Given the description of an element on the screen output the (x, y) to click on. 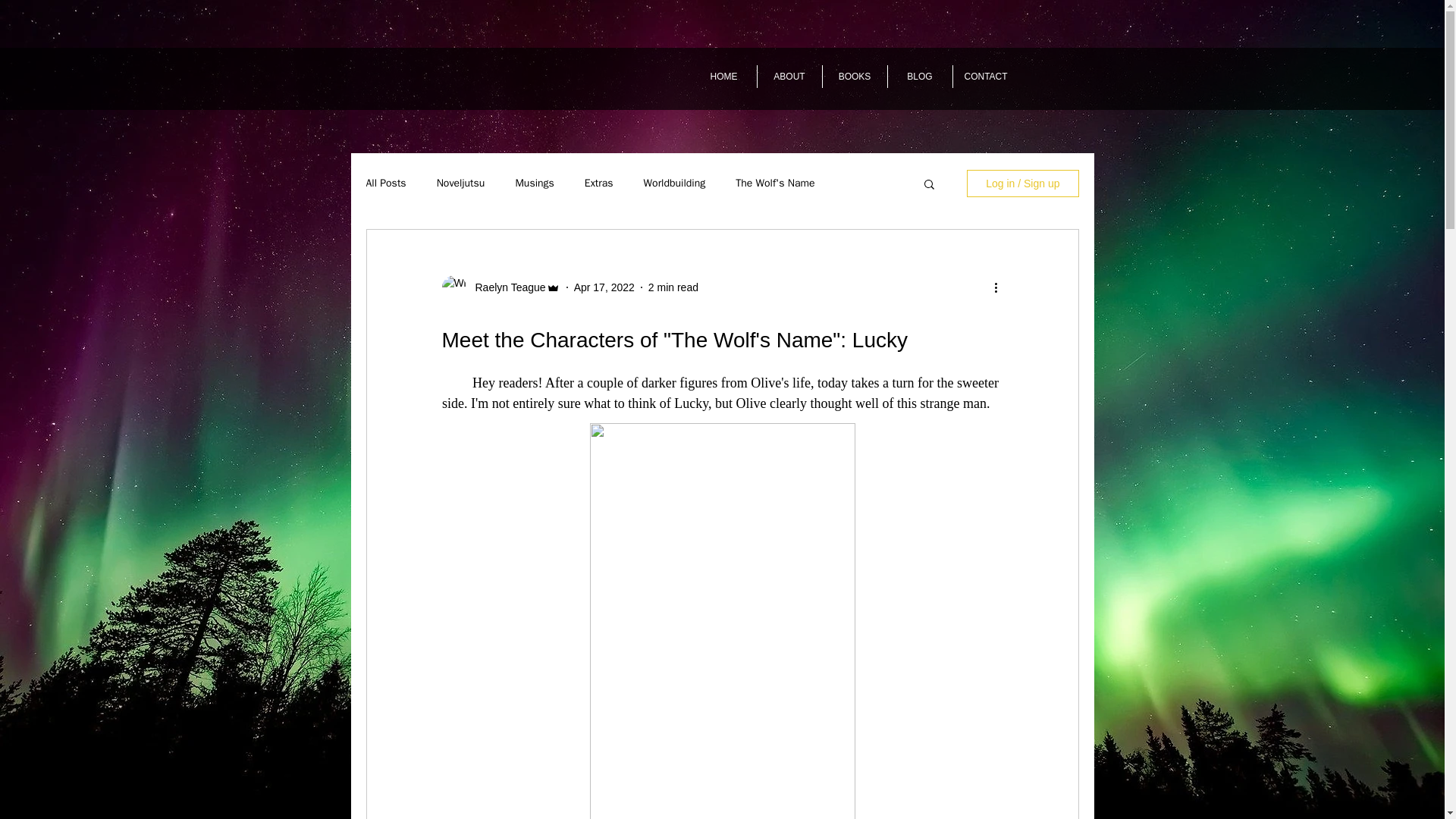
HOME (724, 76)
BLOG (919, 76)
Noveljutsu (460, 183)
All Posts (385, 183)
Musings (534, 183)
Apr 17, 2022 (603, 286)
Raelyn Teague (504, 286)
Extras (598, 183)
Worldbuilding (674, 183)
ABOUT (789, 76)
The Wolf's Name (774, 183)
2 min read (672, 286)
CONTACT (984, 76)
BOOKS (854, 76)
